Given the description of an element on the screen output the (x, y) to click on. 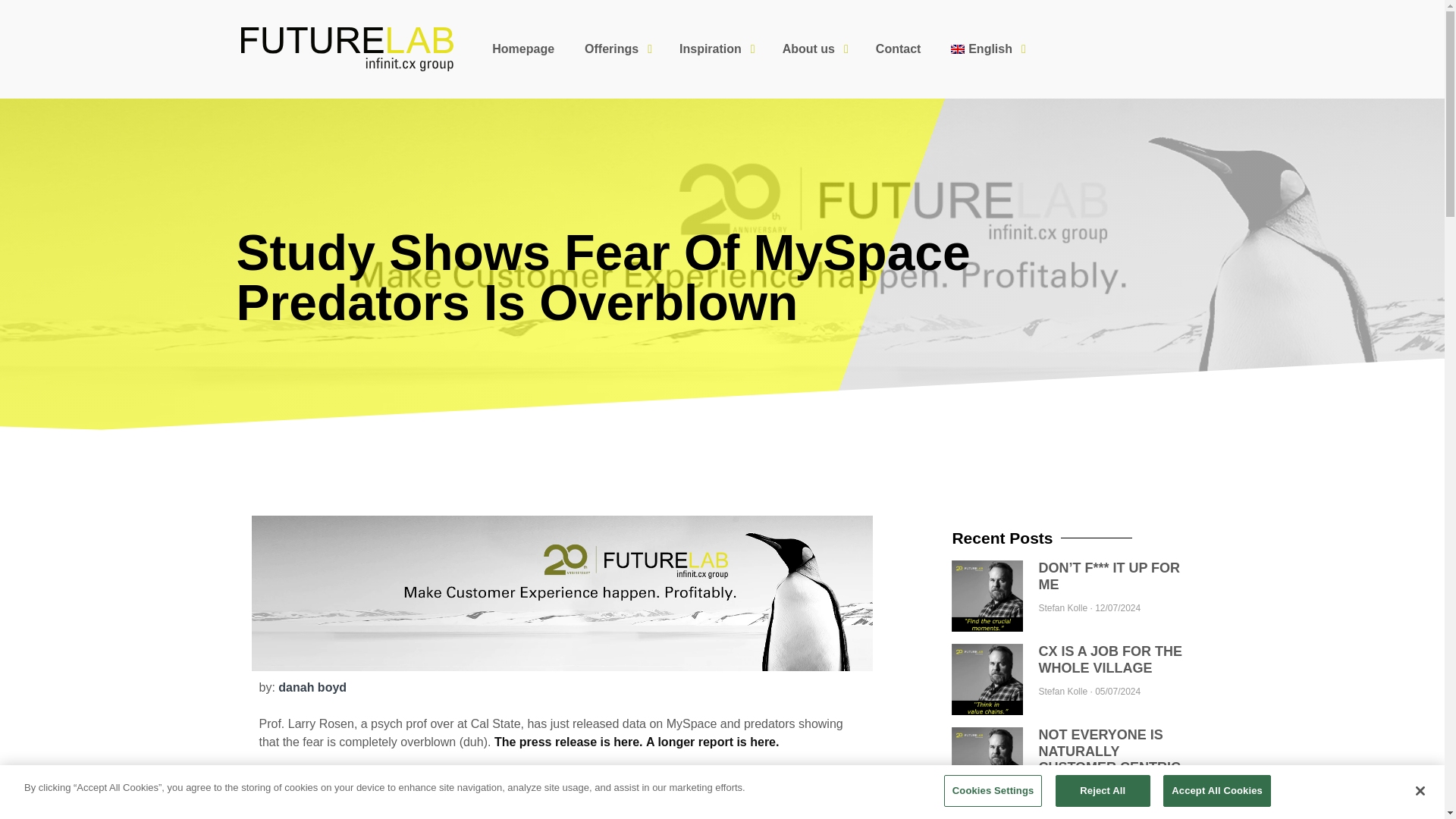
The press release is here. (569, 741)
Offerings (616, 48)
Contact (898, 48)
danah boyd (312, 686)
English (986, 48)
About us (813, 48)
Homepage (523, 48)
Inspiration (715, 48)
English (986, 48)
